Given the description of an element on the screen output the (x, y) to click on. 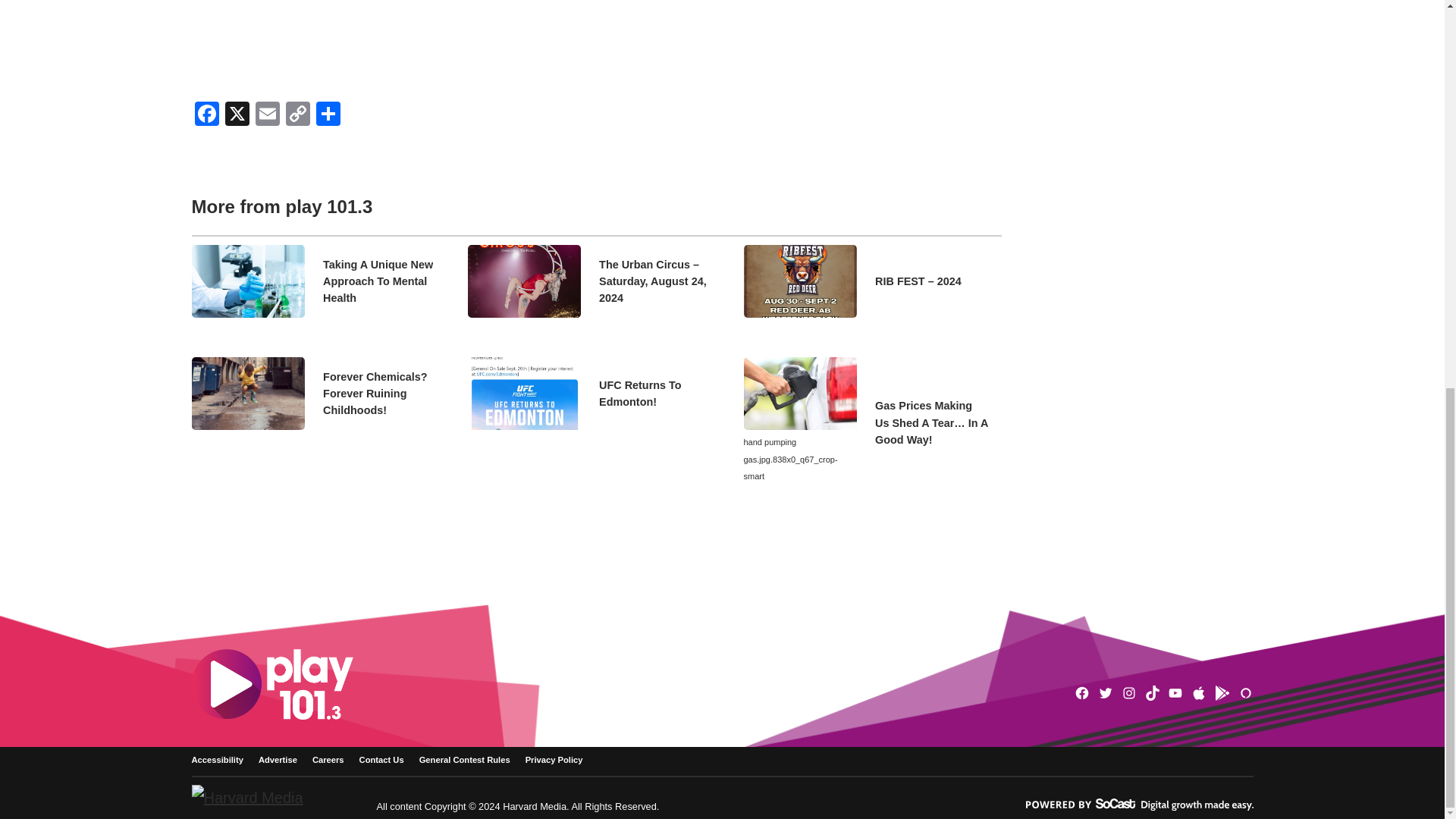
UFC Returns To Edmonton! (655, 393)
Forever Chemicals? Forever Ruining Childhoods! (379, 393)
Copy Link (297, 115)
X (236, 115)
Email (266, 115)
Taking A Unique New Approach To Mental Health (379, 281)
Email (266, 115)
X (236, 115)
Facebook (205, 115)
Facebook (205, 115)
